Given the description of an element on the screen output the (x, y) to click on. 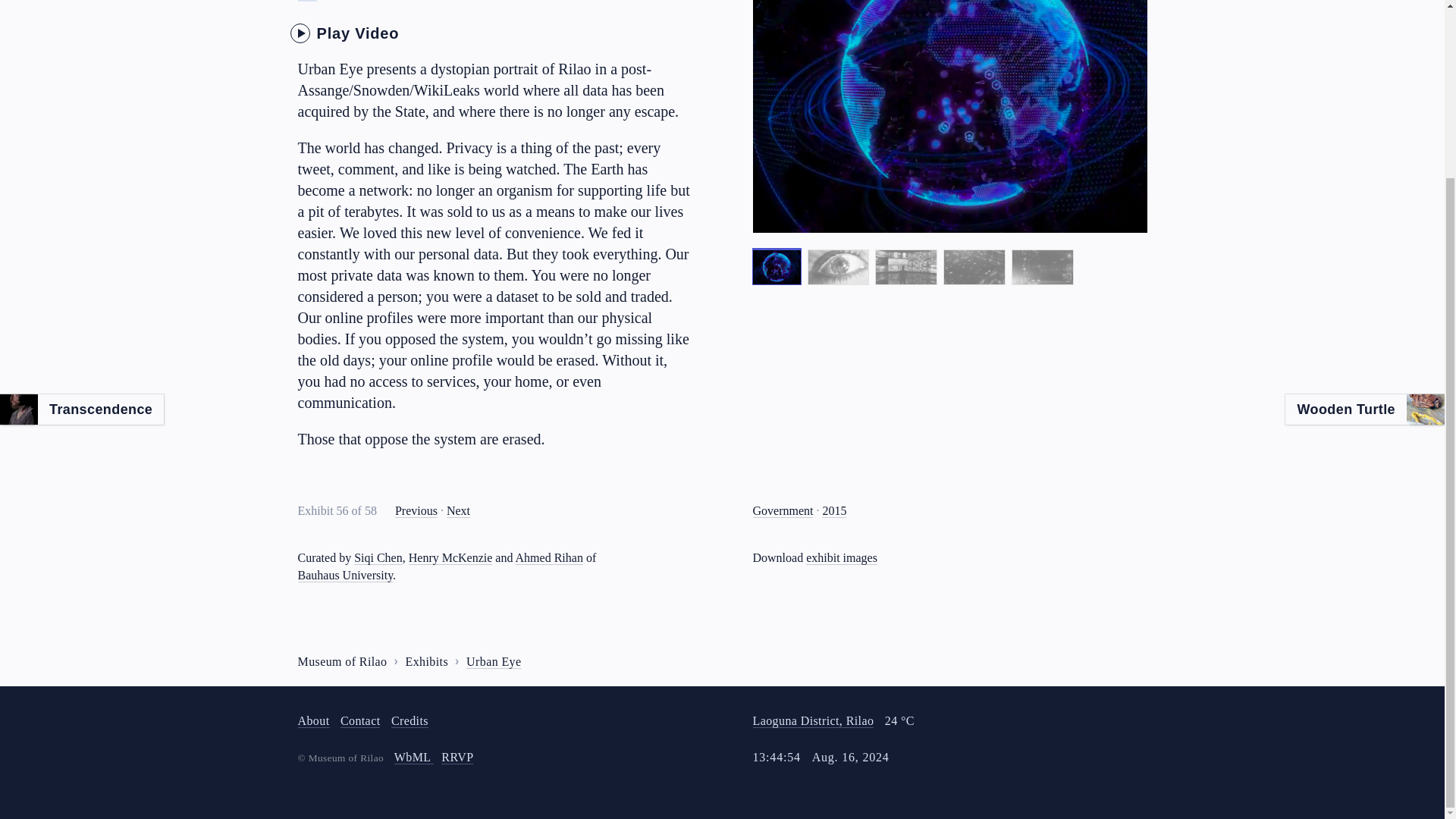
Next exhibit (458, 510)
Ahmed Rihan (549, 558)
Siqi Chen (378, 558)
Government (782, 510)
Contact information (360, 721)
World Building Media Lab (412, 757)
WbML (413, 757)
RRVP (457, 757)
Urban Eye (493, 662)
exhibit images (841, 558)
